Given the description of an element on the screen output the (x, y) to click on. 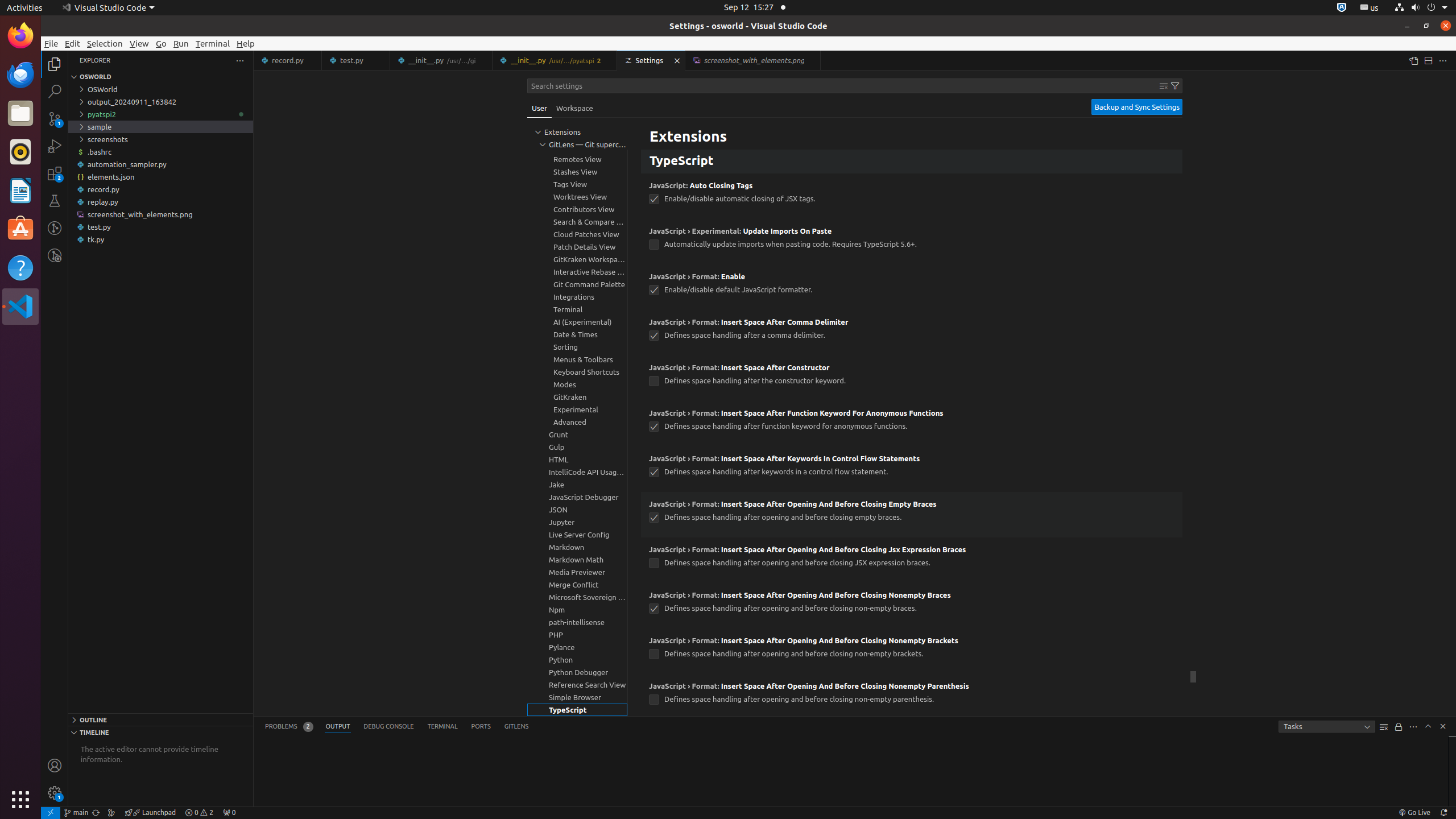
javascript.format.insertSpaceAfterConstructor Element type: check-box (653, 380)
test.py Element type: page-tab (355, 60)
More Actions... Element type: push-button (1442, 60)
Turn Auto Scrolling Off Element type: check-box (1398, 726)
JavaScript › Format Enable. Enable/disable default JavaScript formatter.  Element type: tree-item (911, 286)
